Given the description of an element on the screen output the (x, y) to click on. 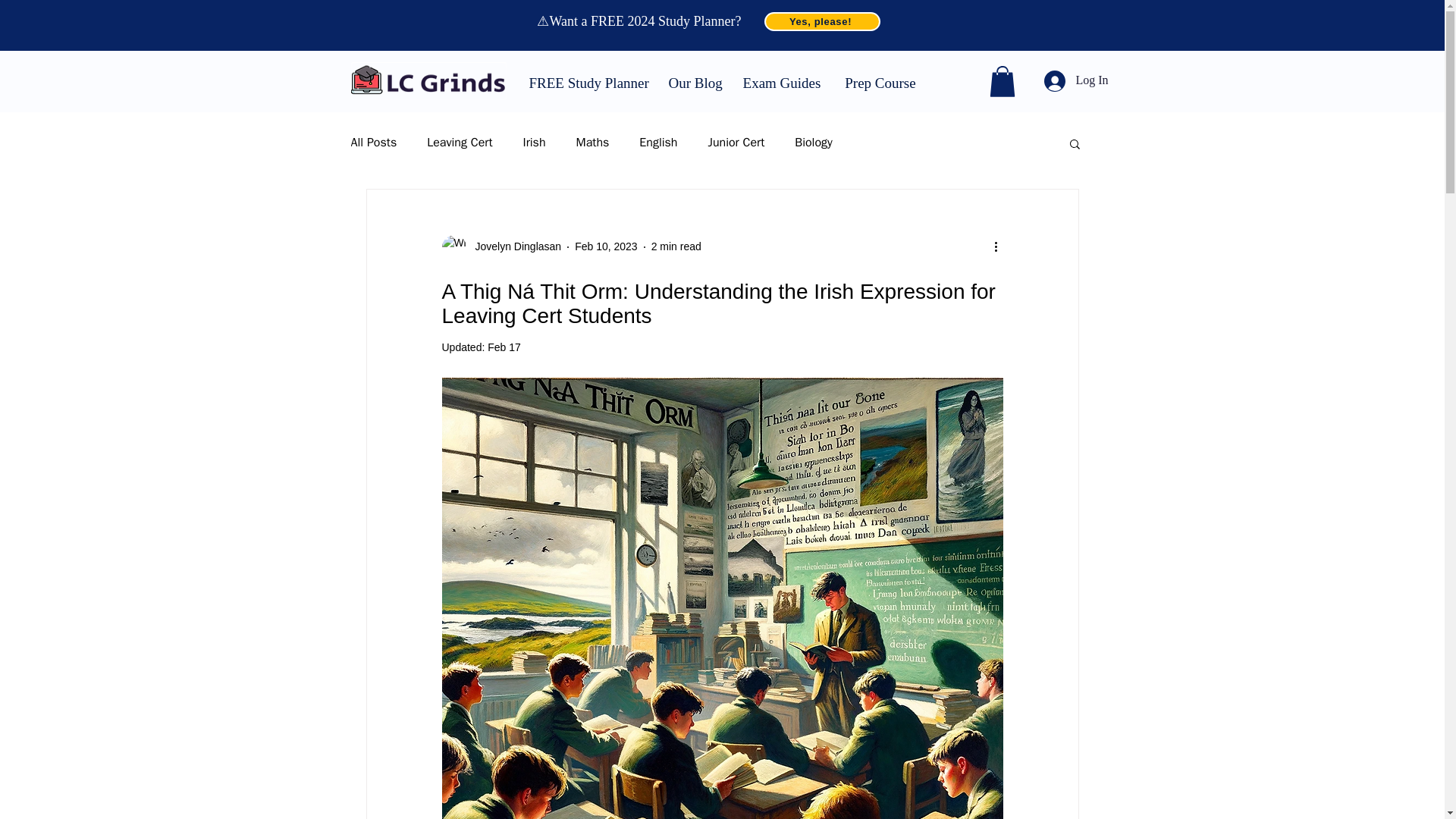
Jovelyn Dinglasan (500, 247)
English (658, 142)
Exam Guides (780, 80)
Irish (534, 142)
Feb 17 (504, 346)
All Posts (373, 142)
2 min read (675, 246)
Yes, please! (822, 21)
Feb 10, 2023 (606, 246)
Leaving Cert (459, 142)
Prep Course (880, 80)
FREE Study Planner (586, 80)
Jovelyn Dinglasan (512, 246)
Maths (593, 142)
Biology (813, 142)
